Given the description of an element on the screen output the (x, y) to click on. 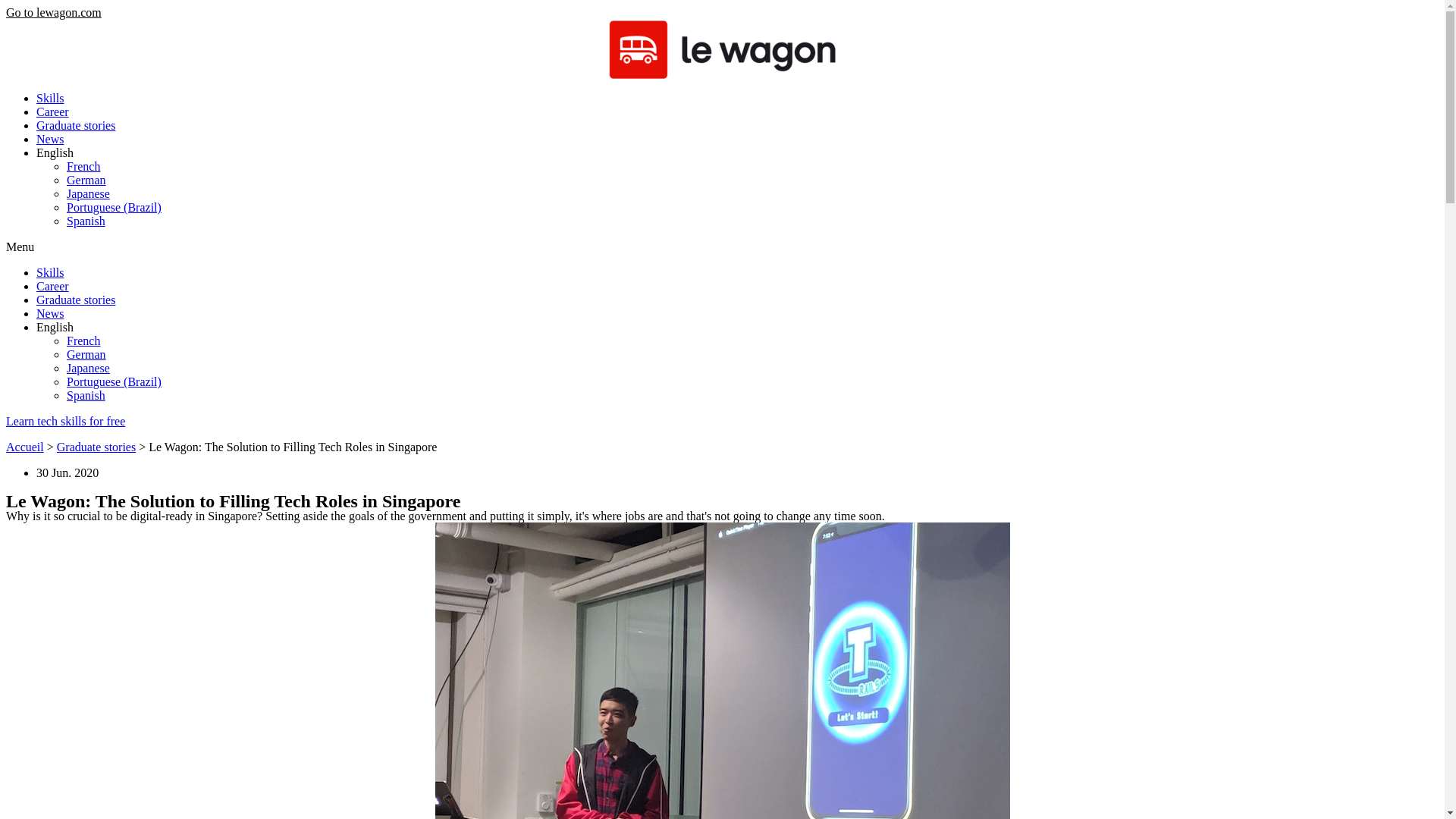
Learn tech skills for free (65, 420)
English (55, 327)
Graduate stories (75, 299)
Career (52, 286)
Go to lewagon.com (53, 11)
Graduate stories (95, 446)
News (50, 313)
Accueil (24, 446)
Graduate stories (75, 124)
Skills (50, 97)
